Given the description of an element on the screen output the (x, y) to click on. 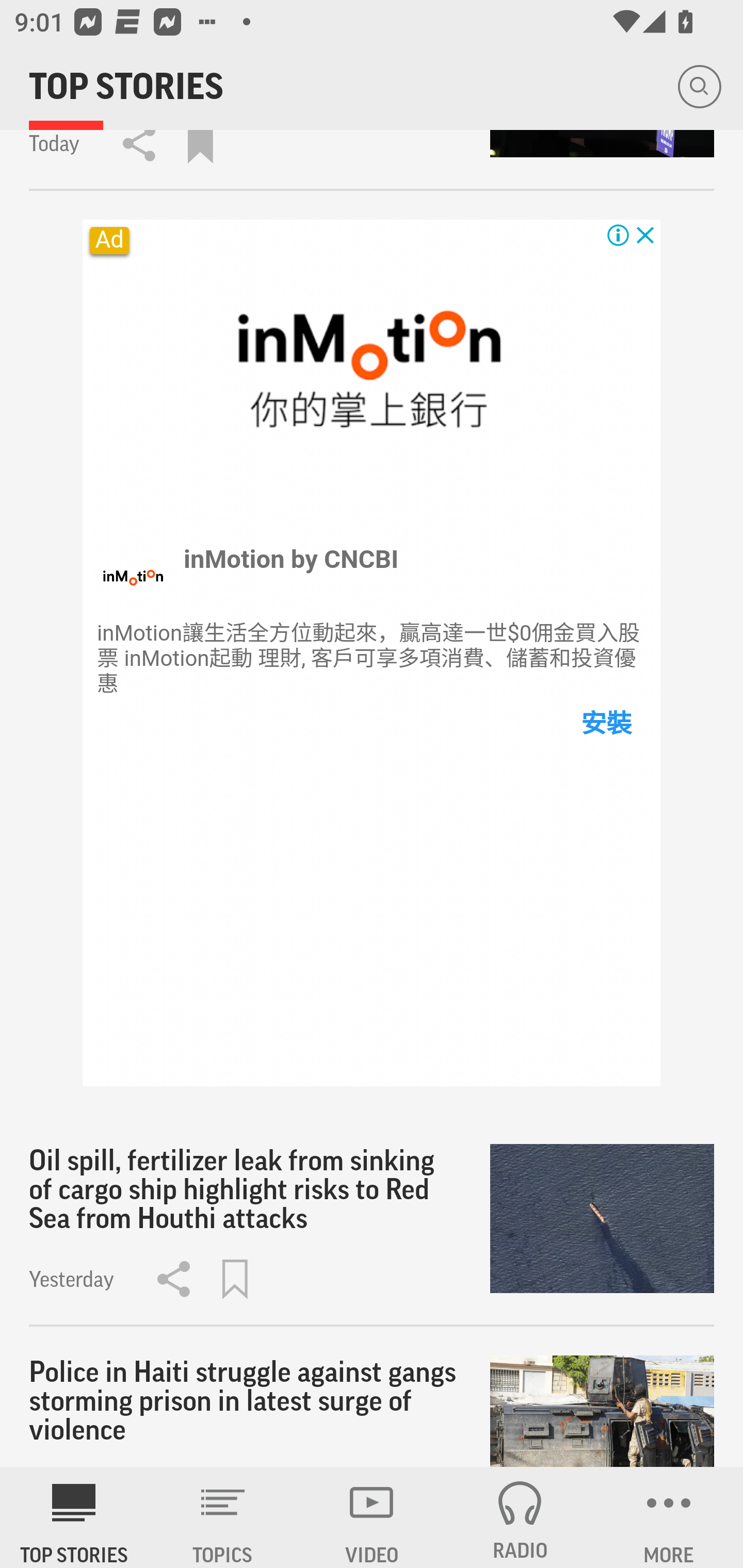
inMotion by CNCBI (291, 558)
安裝 (604, 723)
AP News TOP STORIES (74, 1517)
TOPICS (222, 1517)
VIDEO (371, 1517)
RADIO (519, 1517)
MORE (668, 1517)
